Given the description of an element on the screen output the (x, y) to click on. 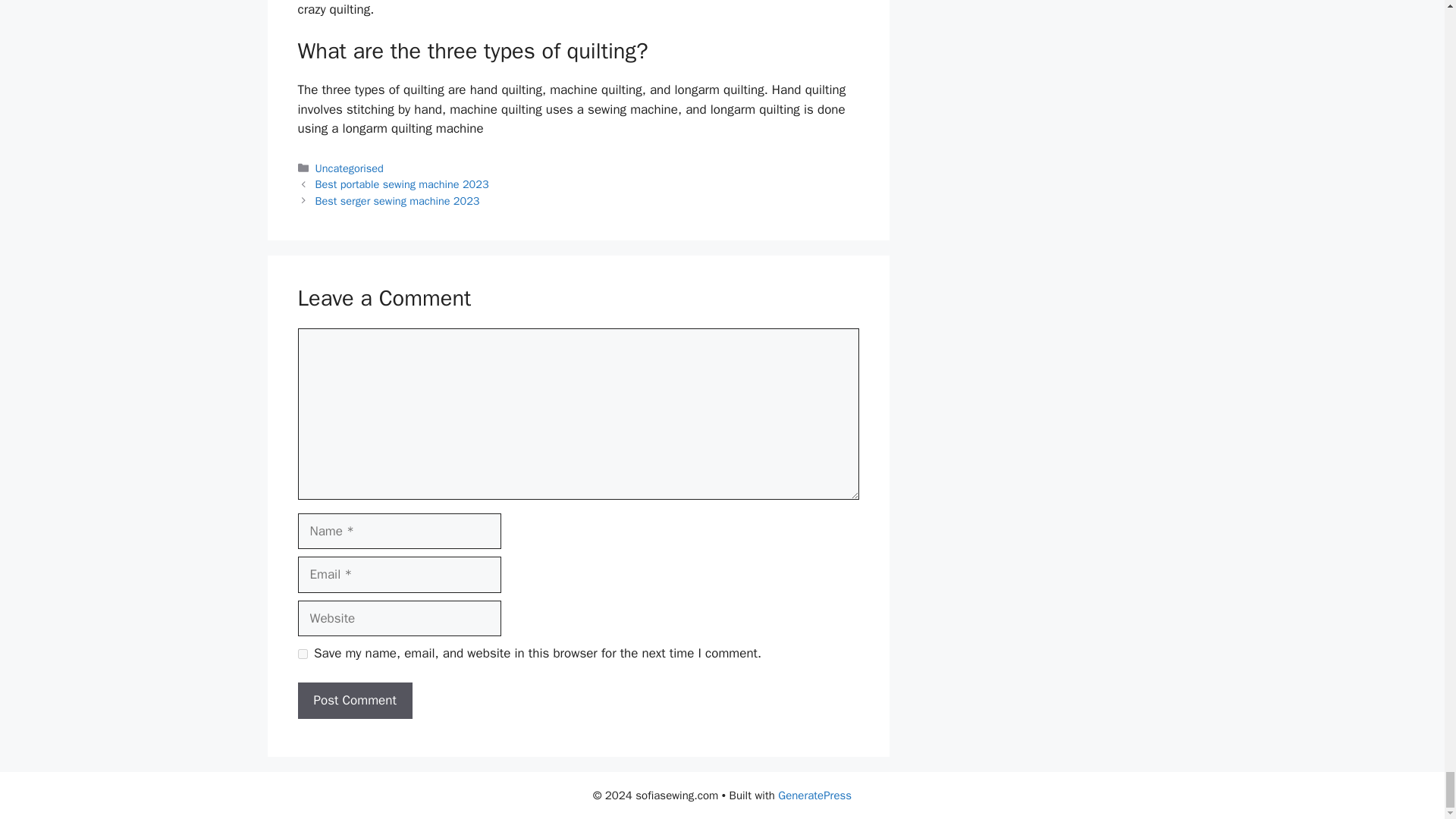
Post Comment (354, 700)
Best serger sewing machine 2023 (397, 201)
yes (302, 654)
Post Comment (354, 700)
Uncategorised (349, 168)
Best portable sewing machine 2023 (402, 183)
